Given the description of an element on the screen output the (x, y) to click on. 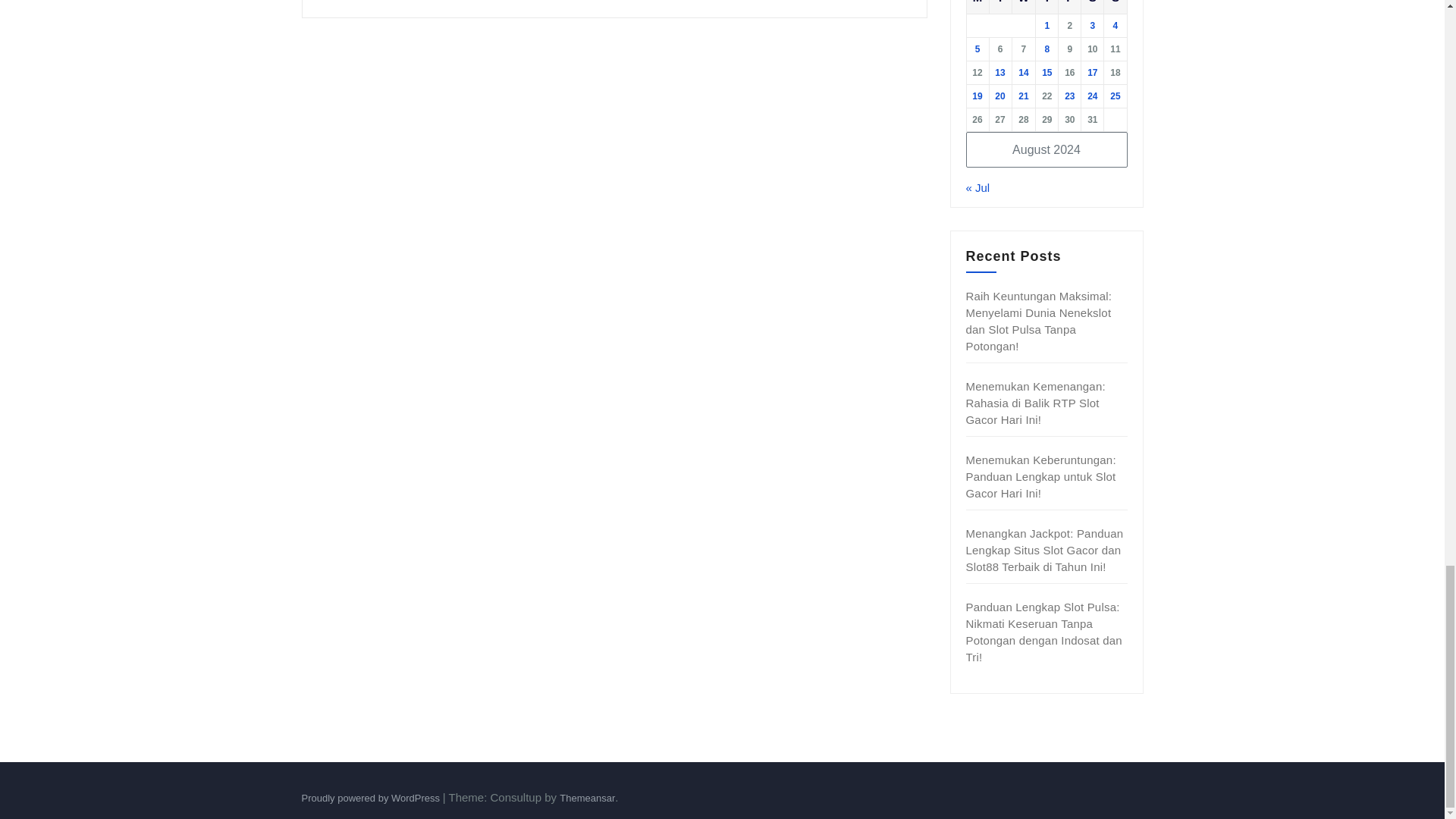
Monday (977, 6)
Friday (1069, 6)
Tuesday (999, 6)
Saturday (1092, 6)
Thursday (1046, 6)
Sunday (1114, 6)
Wednesday (1023, 6)
